Given the description of an element on the screen output the (x, y) to click on. 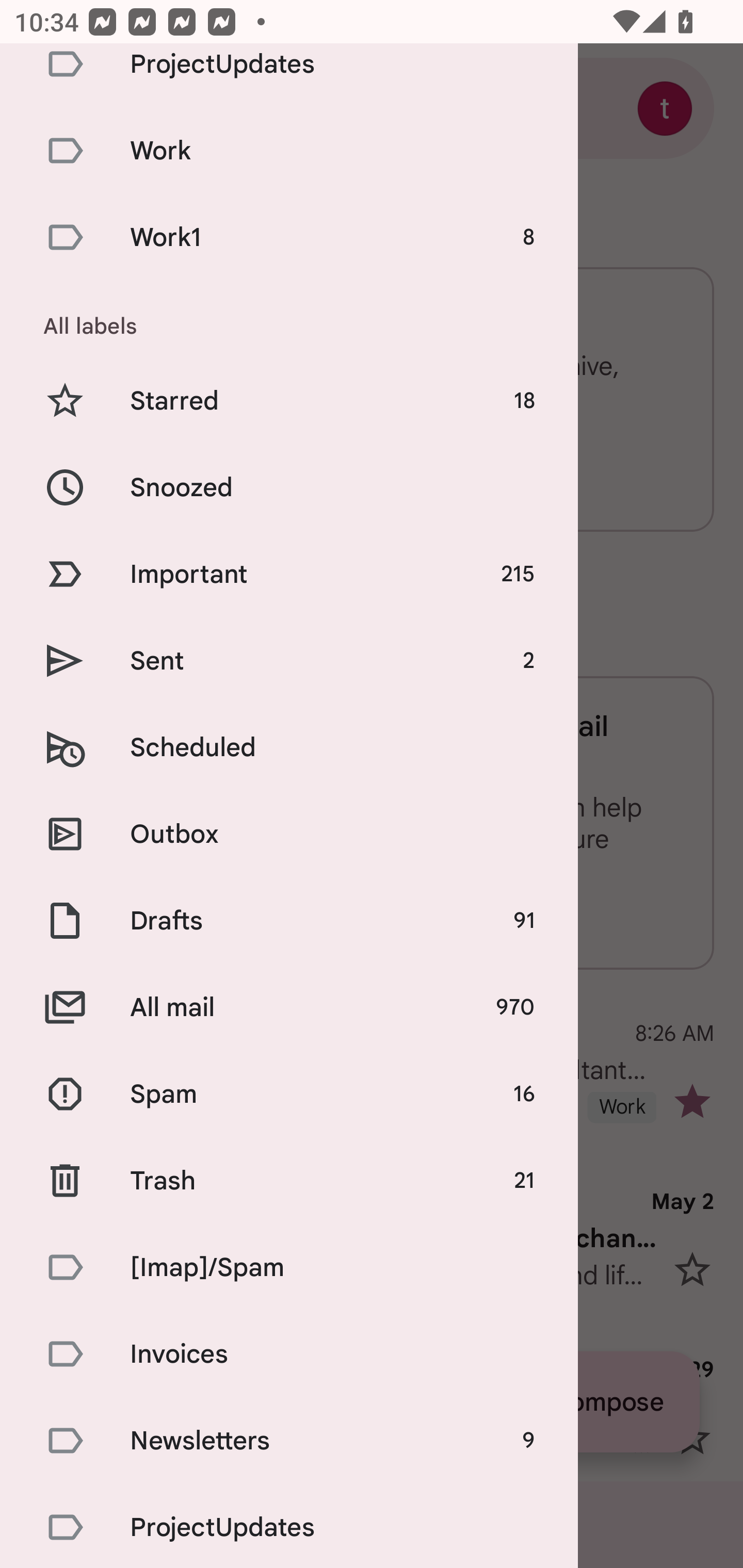
ProjectUpdates (289, 74)
Work (289, 150)
Work1 8 (289, 237)
Starred 18 (289, 400)
Snoozed (289, 486)
Important 215 (289, 573)
Sent 2 (289, 660)
Scheduled (289, 747)
Outbox (289, 834)
Dismiss (449, 908)
All mail 970 (289, 1007)
Spam 16 (289, 1093)
Trash 21 (289, 1180)
[Imap]/Spam (289, 1267)
Invoices (289, 1353)
Newsletters 9 (289, 1440)
ProjectUpdates (289, 1525)
